Given the description of an element on the screen output the (x, y) to click on. 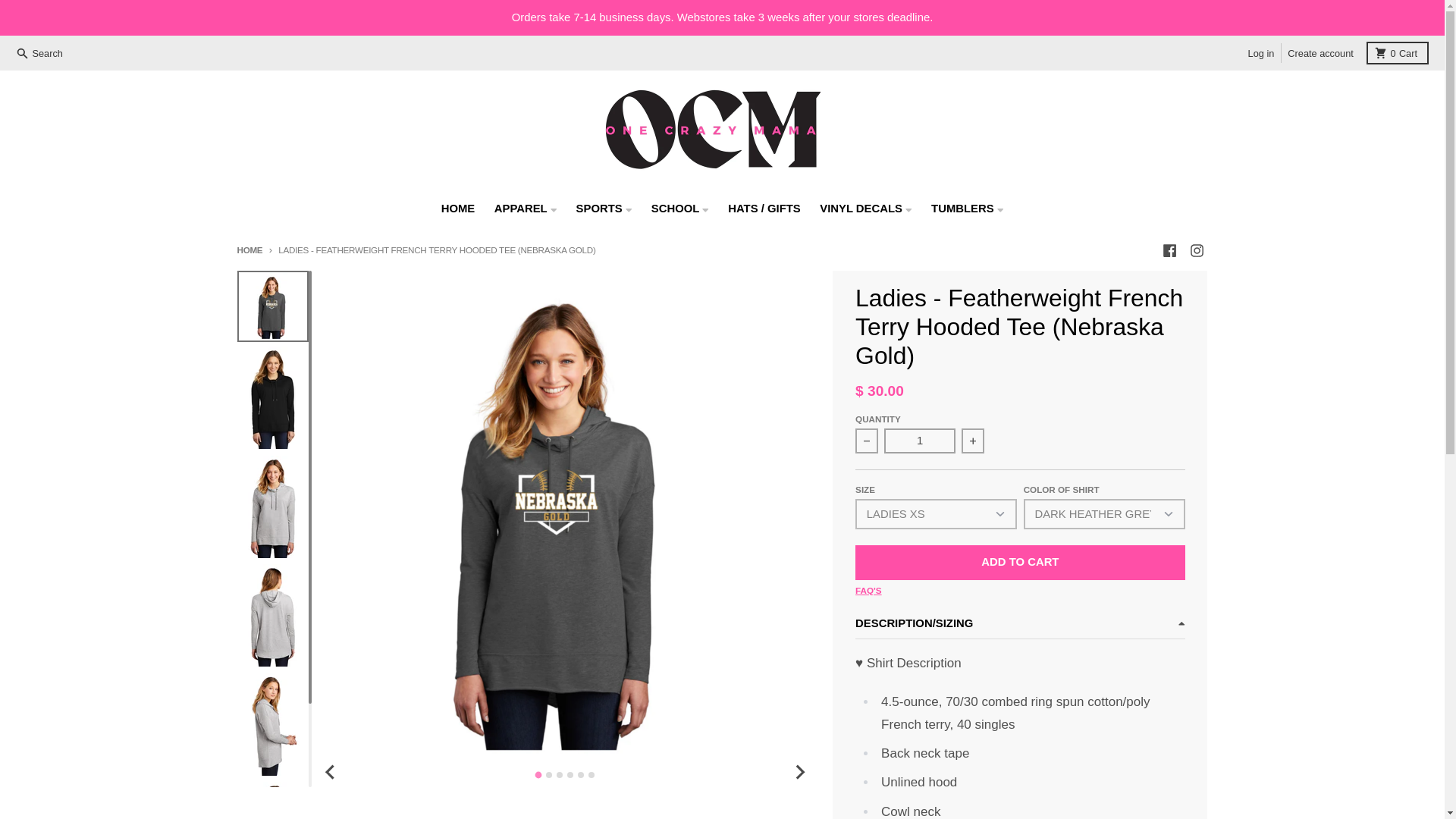
Facebook - One Crazy Mama (1169, 250)
Back to the homepage (248, 249)
Search (41, 53)
Instagram - One Crazy Mama (1197, 250)
Log in (1261, 53)
1 (1397, 52)
Create account (919, 440)
